Given the description of an element on the screen output the (x, y) to click on. 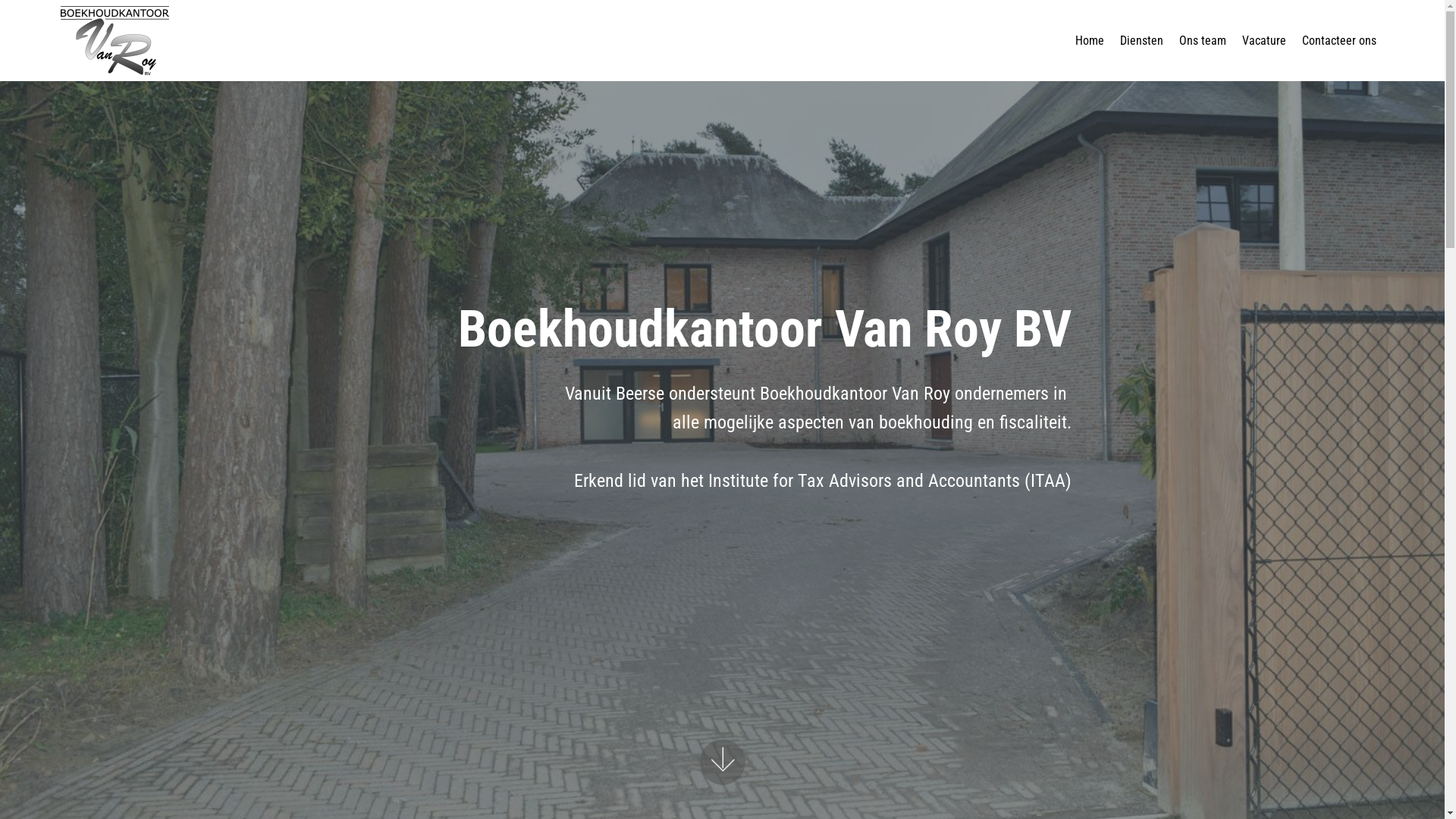
Home Element type: text (1089, 39)
Diensten Element type: text (1141, 39)
Contacteer ons Element type: text (1339, 39)
Ons team Element type: text (1202, 39)
Vacature Element type: text (1264, 39)
